Given the description of an element on the screen output the (x, y) to click on. 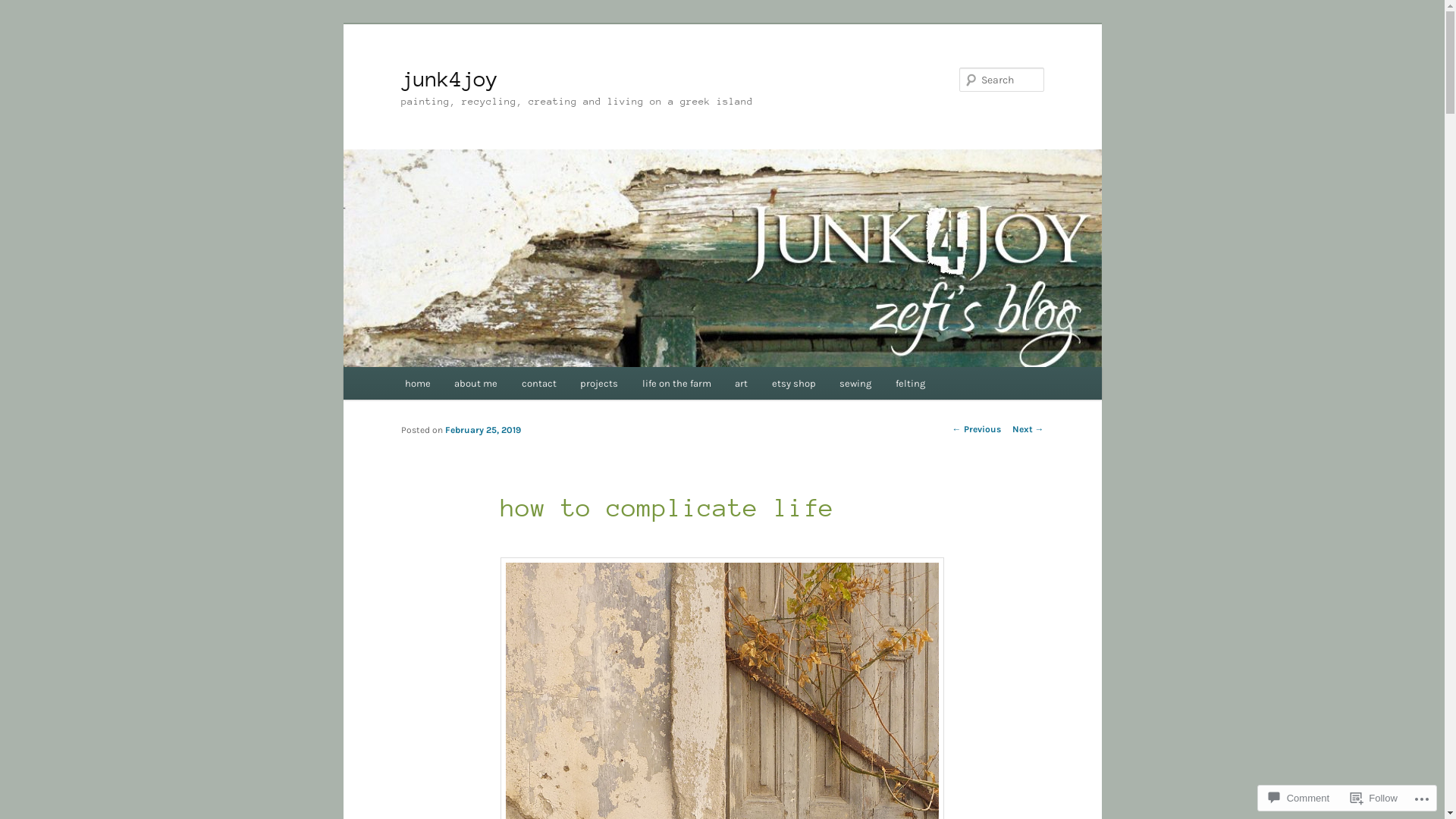
Skip to primary content Element type: text (22, 22)
felting Element type: text (910, 383)
life on the farm Element type: text (676, 383)
Follow Element type: text (1373, 797)
contact Element type: text (538, 383)
February 25, 2019 Element type: text (482, 429)
Search Element type: text (23, 9)
Comment Element type: text (1298, 797)
etsy shop Element type: text (793, 383)
projects Element type: text (598, 383)
junk4joy Element type: text (448, 79)
home Element type: text (417, 383)
about me Element type: text (475, 383)
art Element type: text (740, 383)
sewing Element type: text (855, 383)
